Given the description of an element on the screen output the (x, y) to click on. 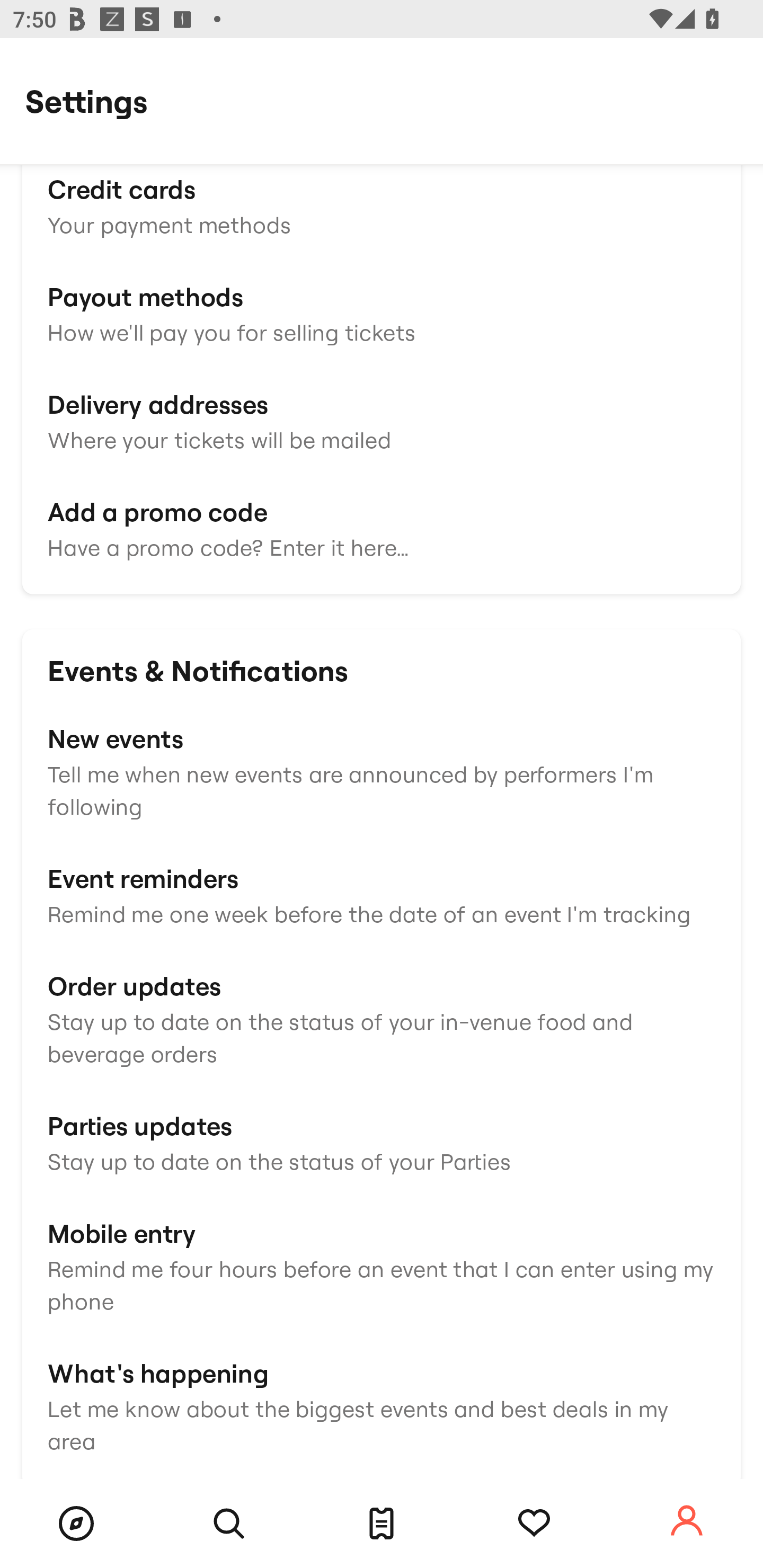
Credit cards Your payment methods (381, 205)
Add a promo code Have a promo code? Enter it here… (381, 527)
Browse (76, 1523)
Search (228, 1523)
Tickets (381, 1523)
Tracking (533, 1523)
Account (686, 1521)
